Given the description of an element on the screen output the (x, y) to click on. 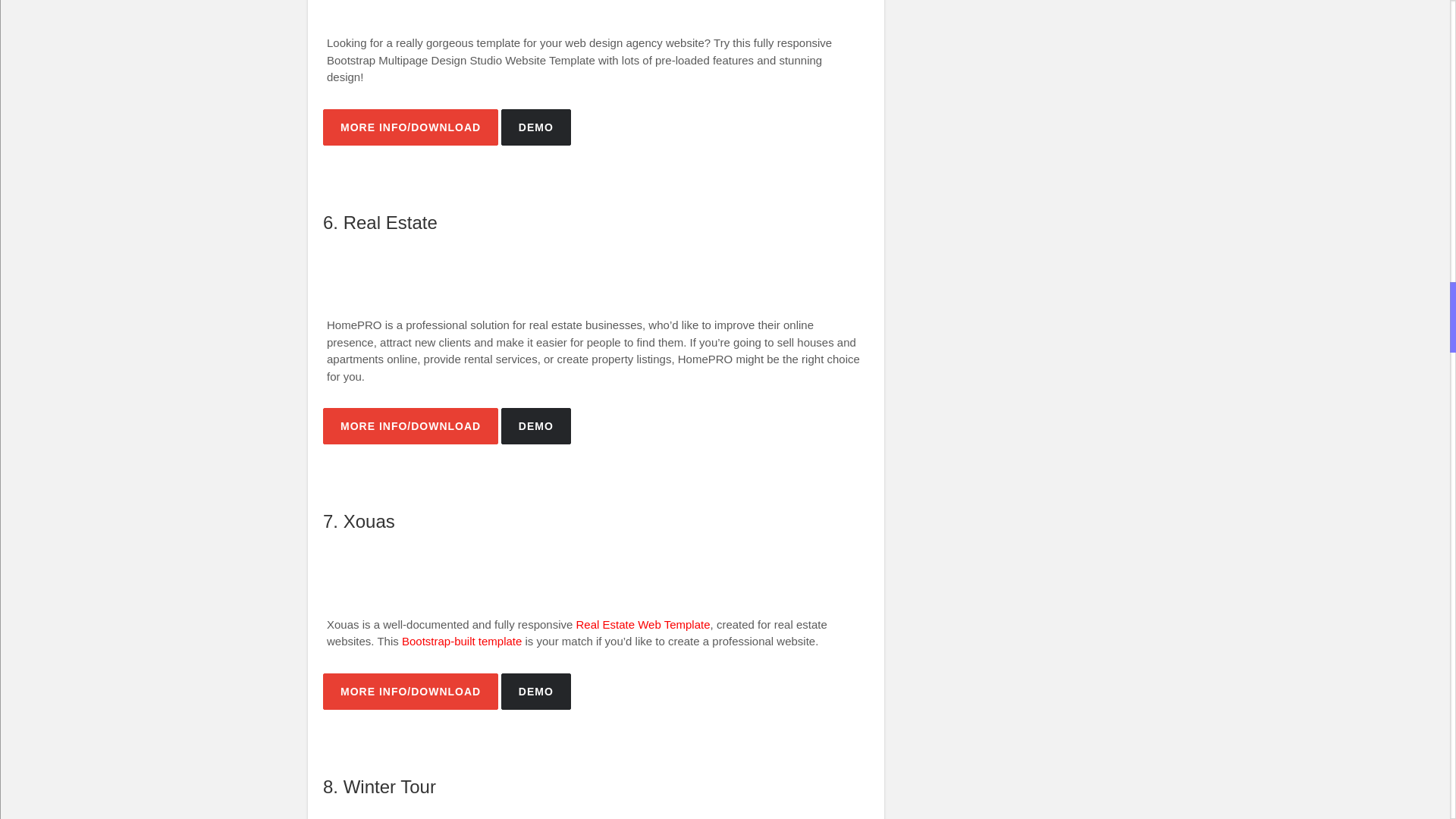
DEMO (535, 126)
Demo (535, 126)
Demo (535, 425)
Demo (535, 691)
Detail (410, 425)
Detail (410, 691)
Detail (410, 126)
DEMO (535, 425)
Bootstrap-built template (461, 640)
Real Estate Web Template (643, 624)
